Given the description of an element on the screen output the (x, y) to click on. 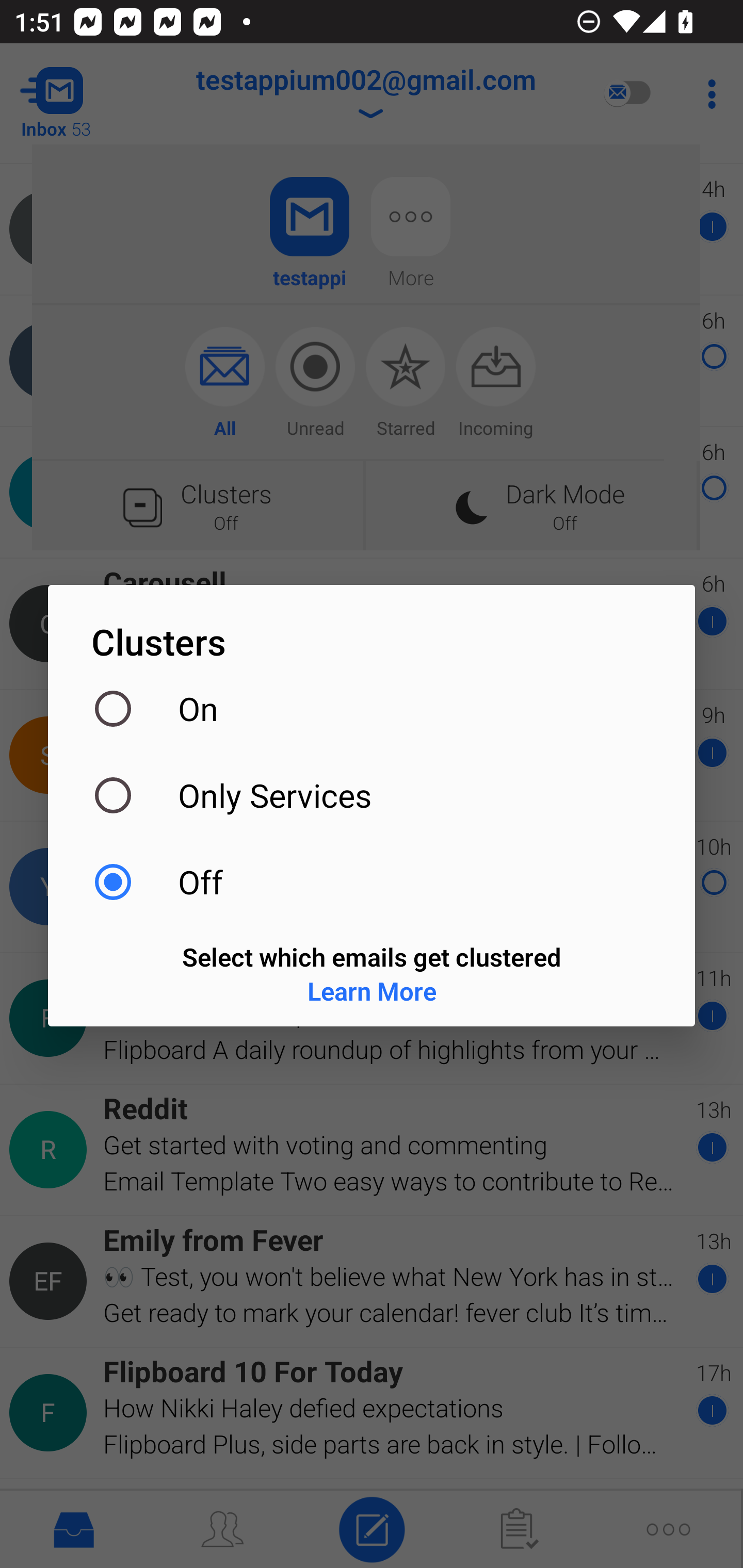
On (371, 708)
Only Services (371, 795)
Off (371, 881)
Learn More (371, 990)
